Given the description of an element on the screen output the (x, y) to click on. 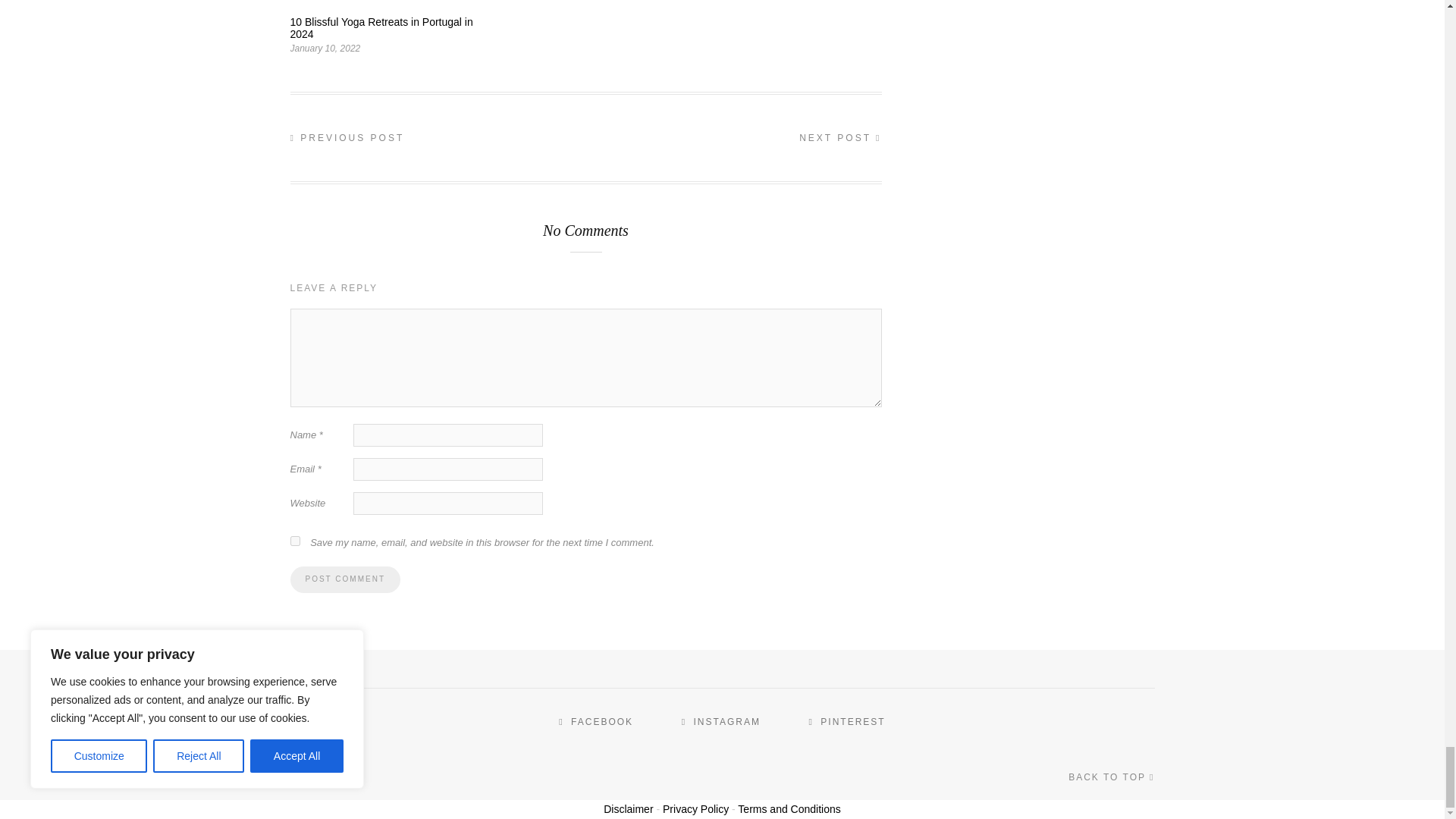
yes (294, 541)
Post Comment (343, 579)
